Given the description of an element on the screen output the (x, y) to click on. 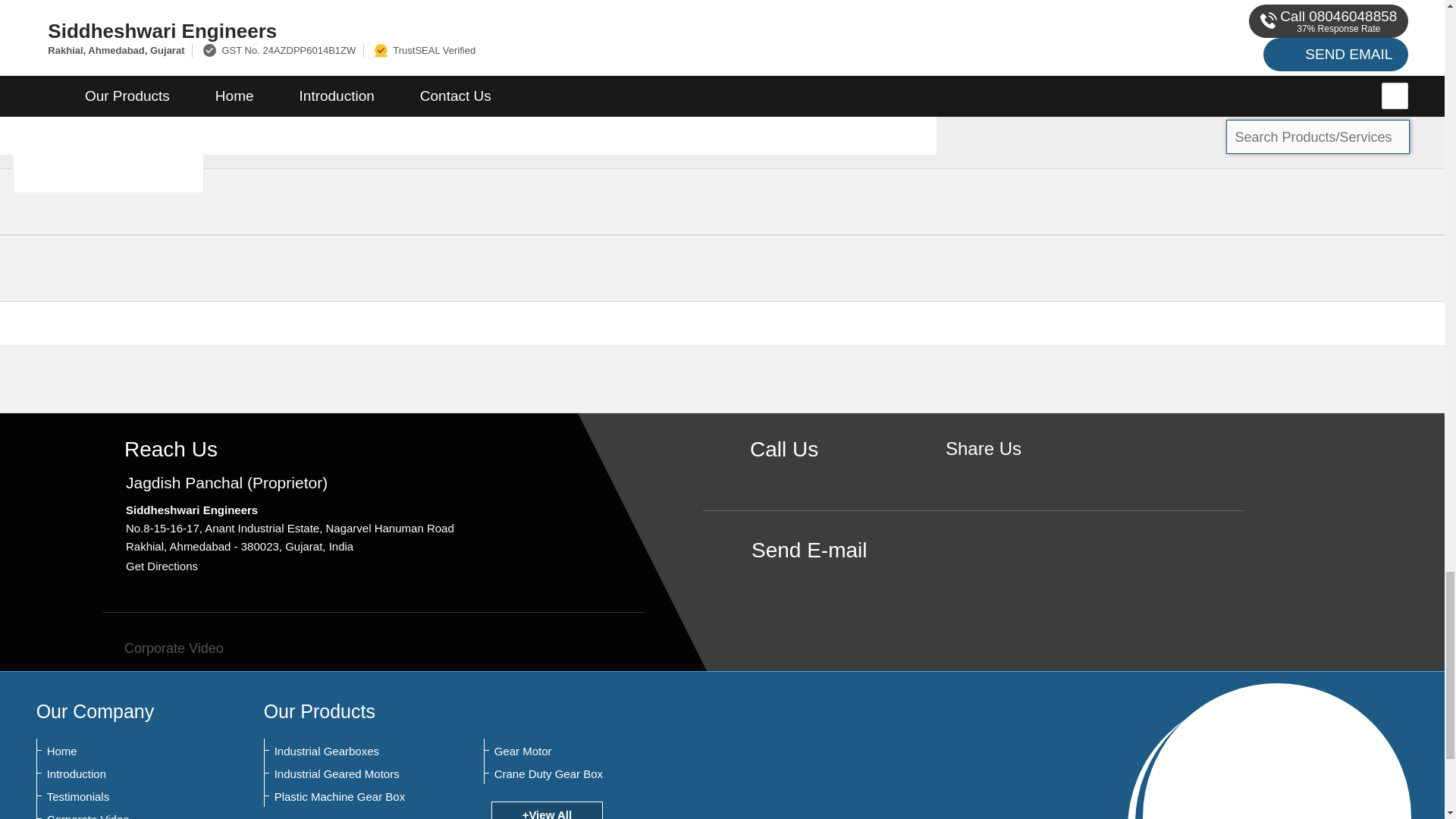
Crane Duty Gear Box (568, 774)
Corporate Video (121, 815)
Testimonials (121, 796)
Gear Motor (568, 751)
Get Directions (161, 565)
Plastic Machine Gear Box (348, 796)
LinkedIn (1029, 475)
Industrial Geared Motors (348, 774)
Industrial Gearboxes (348, 751)
Facebook (983, 475)
